Given the description of an element on the screen output the (x, y) to click on. 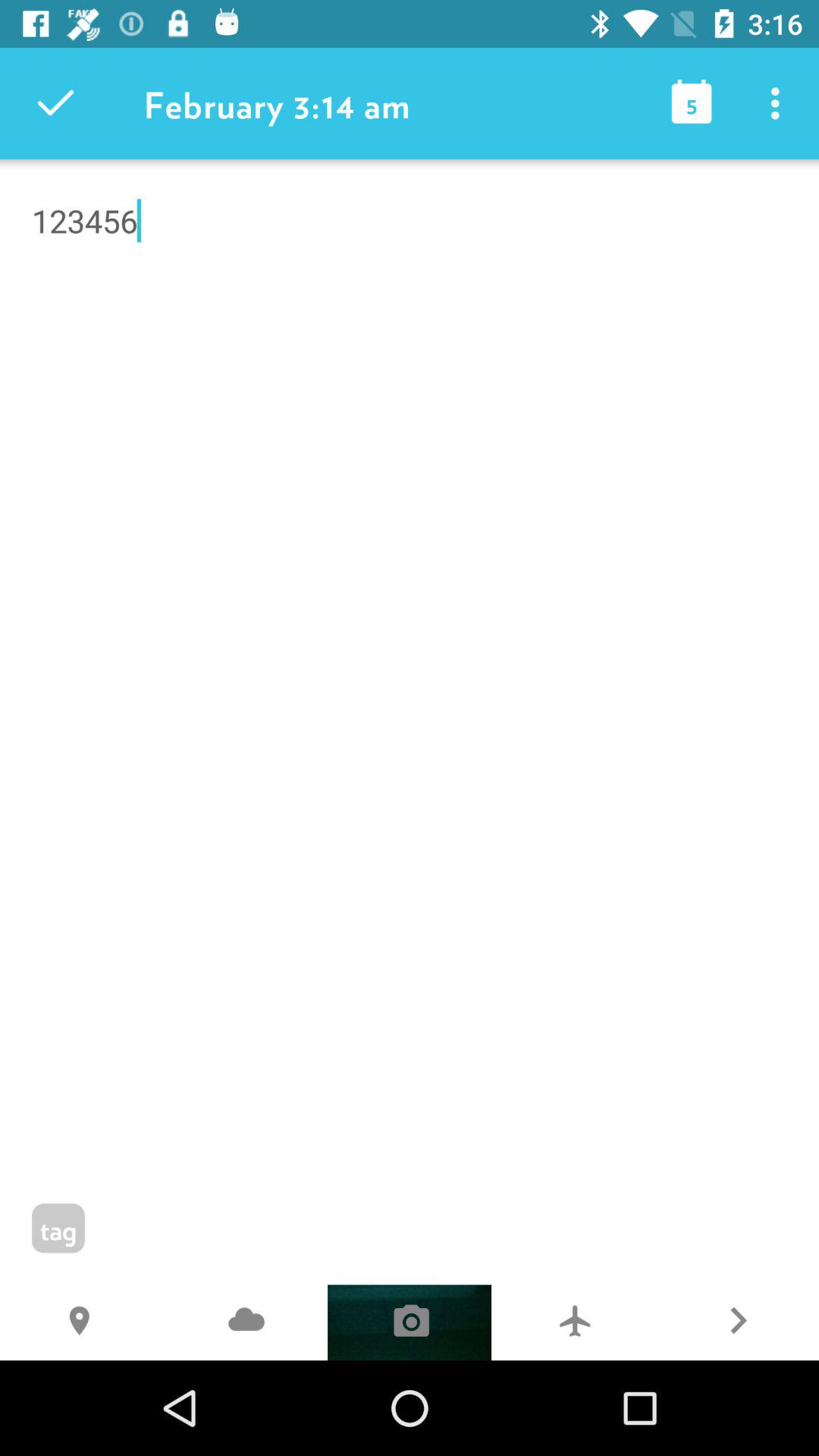
flip until the h item (81, 1322)
